Given the description of an element on the screen output the (x, y) to click on. 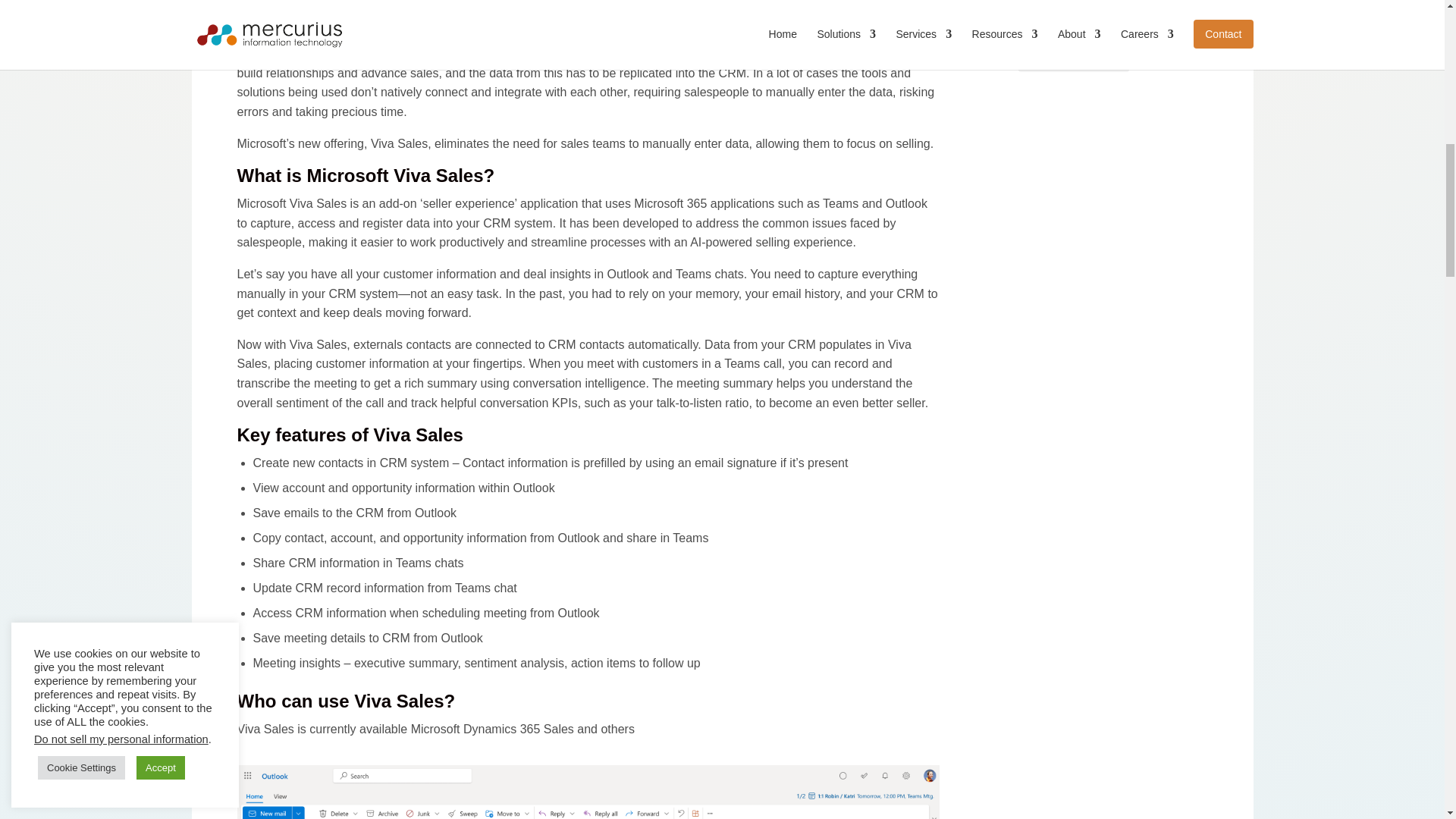
viva-login-options (587, 791)
